Given the description of an element on the screen output the (x, y) to click on. 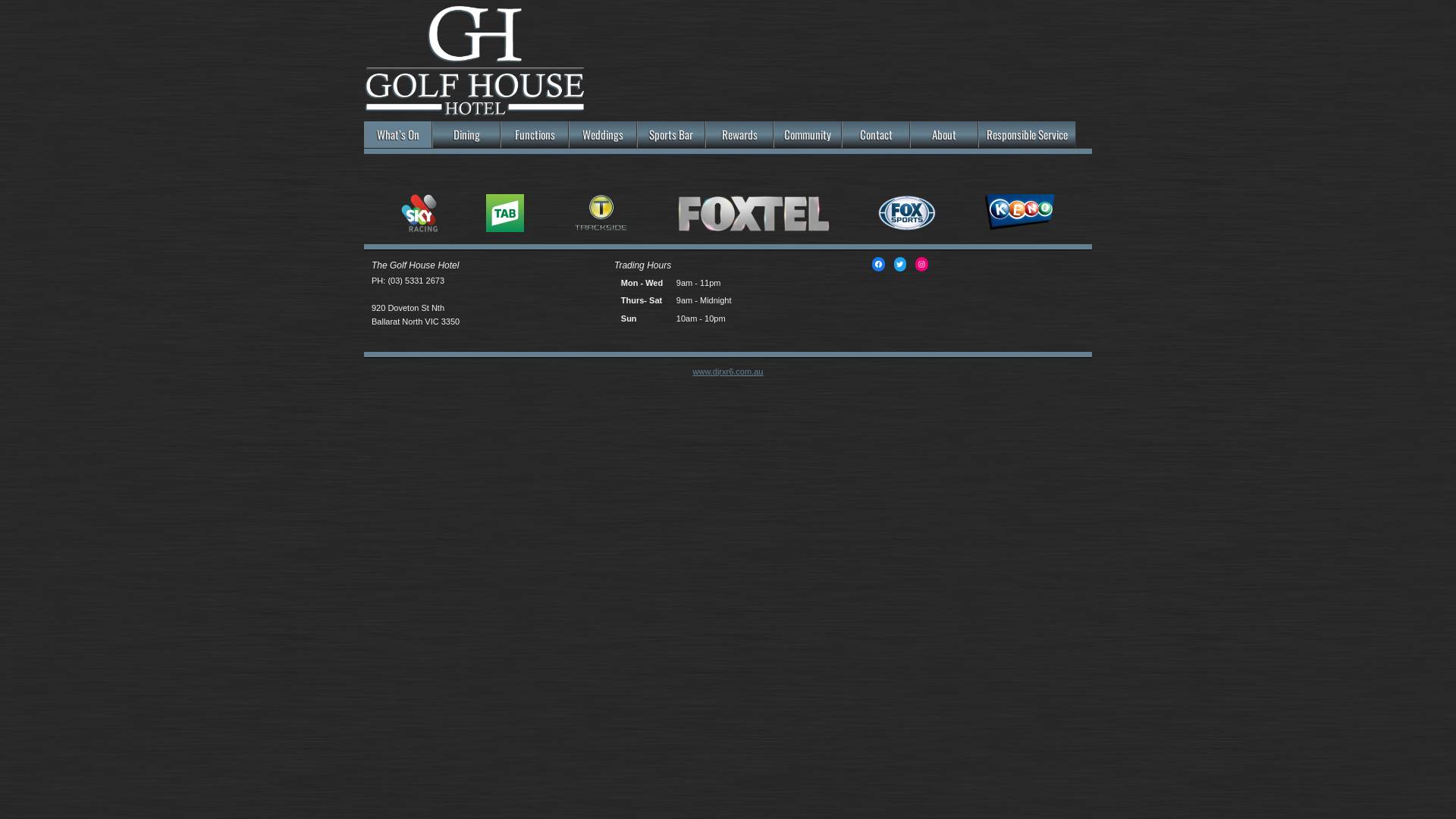
Rewards Element type: text (739, 134)
The Golf House Hotel Element type: hover (475, 108)
www.djrxr6.com.au Element type: text (728, 371)
Weddings Element type: text (602, 134)
Dining Element type: text (466, 134)
Facebook Element type: text (878, 263)
Contact Element type: text (875, 134)
Community Element type: text (807, 134)
About Element type: text (943, 134)
Twitter Element type: text (899, 263)
Sports Bar Element type: text (670, 134)
Instagram Element type: text (921, 263)
Responsible Service Element type: text (1027, 134)
Functions Element type: text (534, 134)
